Given the description of an element on the screen output the (x, y) to click on. 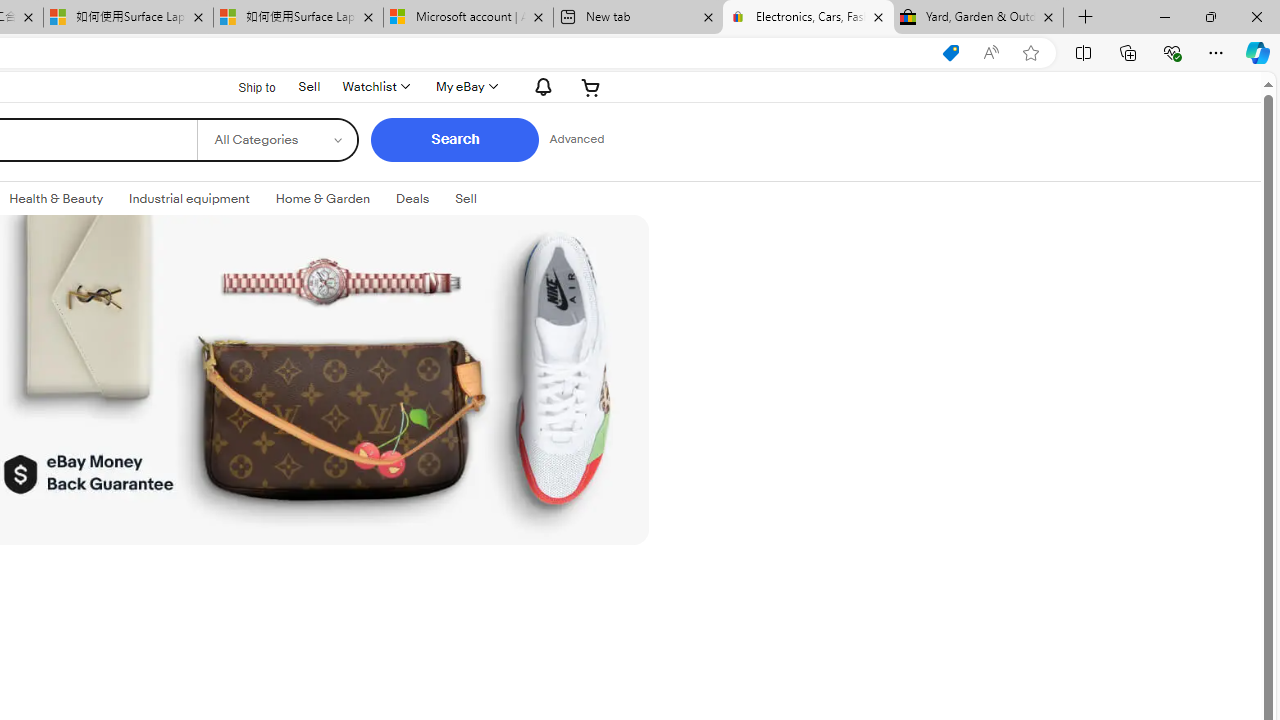
AutomationID: gh-eb-Alerts (540, 86)
My eBay (464, 86)
Sell (465, 198)
Ship to (244, 87)
SellExpand: Sell (465, 199)
Ship to (244, 85)
Notifications (538, 86)
Sell (308, 84)
Yard, Garden & Outdoor Living (978, 17)
